Given the description of an element on the screen output the (x, y) to click on. 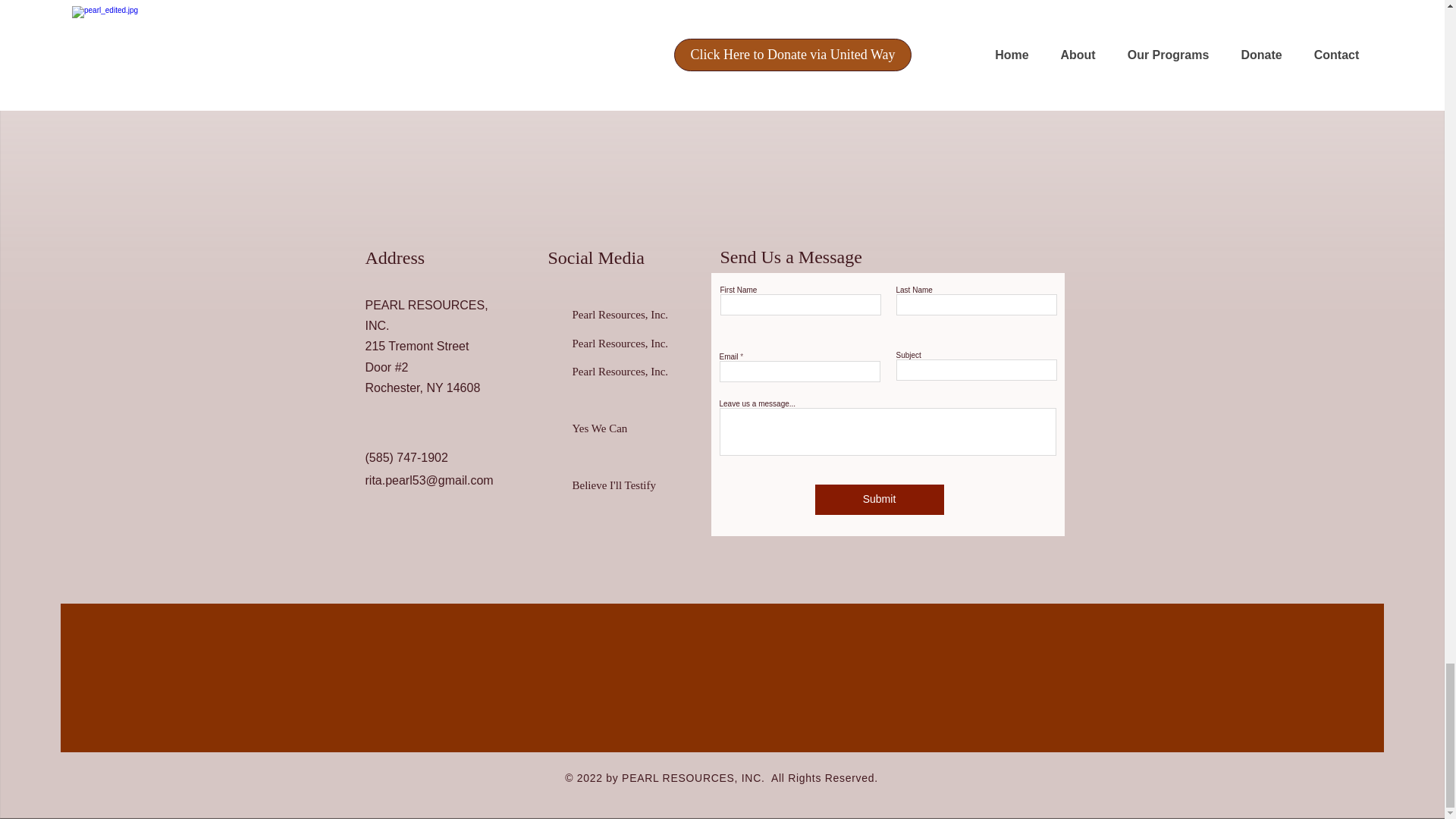
Submit (878, 499)
